Given the description of an element on the screen output the (x, y) to click on. 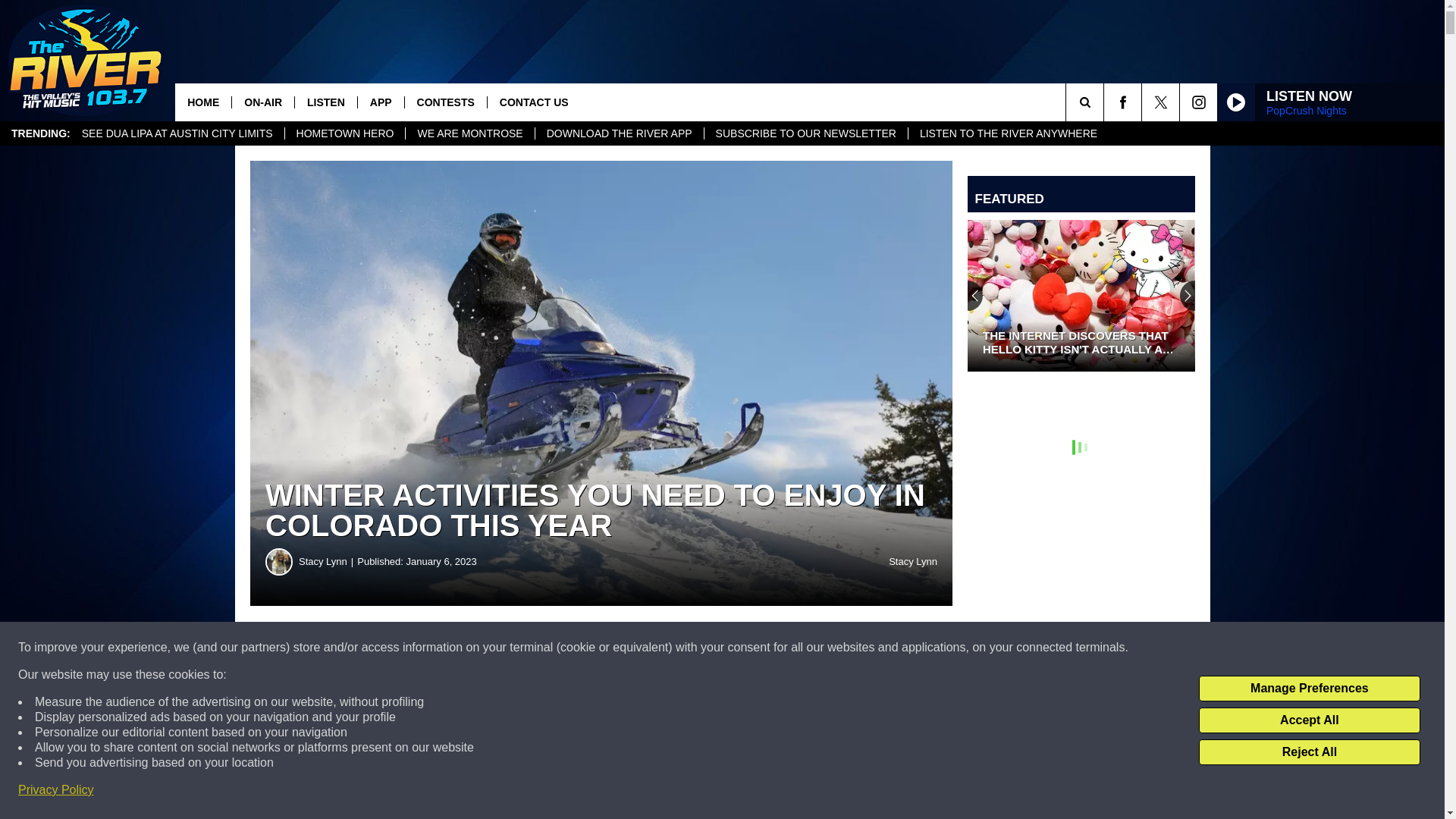
Privacy Policy (55, 789)
SEE DUA LIPA AT AUSTIN CITY LIMITS (176, 133)
SEARCH (1106, 102)
DOWNLOAD THE RIVER APP (618, 133)
SEARCH (1106, 102)
HOMETOWN HERO (344, 133)
APP (380, 102)
LISTEN TO THE RIVER ANYWHERE (1007, 133)
SUBSCRIBE TO OUR NEWSLETTER (805, 133)
Share on Facebook (460, 647)
HOME (202, 102)
CONTESTS (445, 102)
Accept All (1309, 720)
Share on Twitter (741, 647)
Manage Preferences (1309, 688)
